Given the description of an element on the screen output the (x, y) to click on. 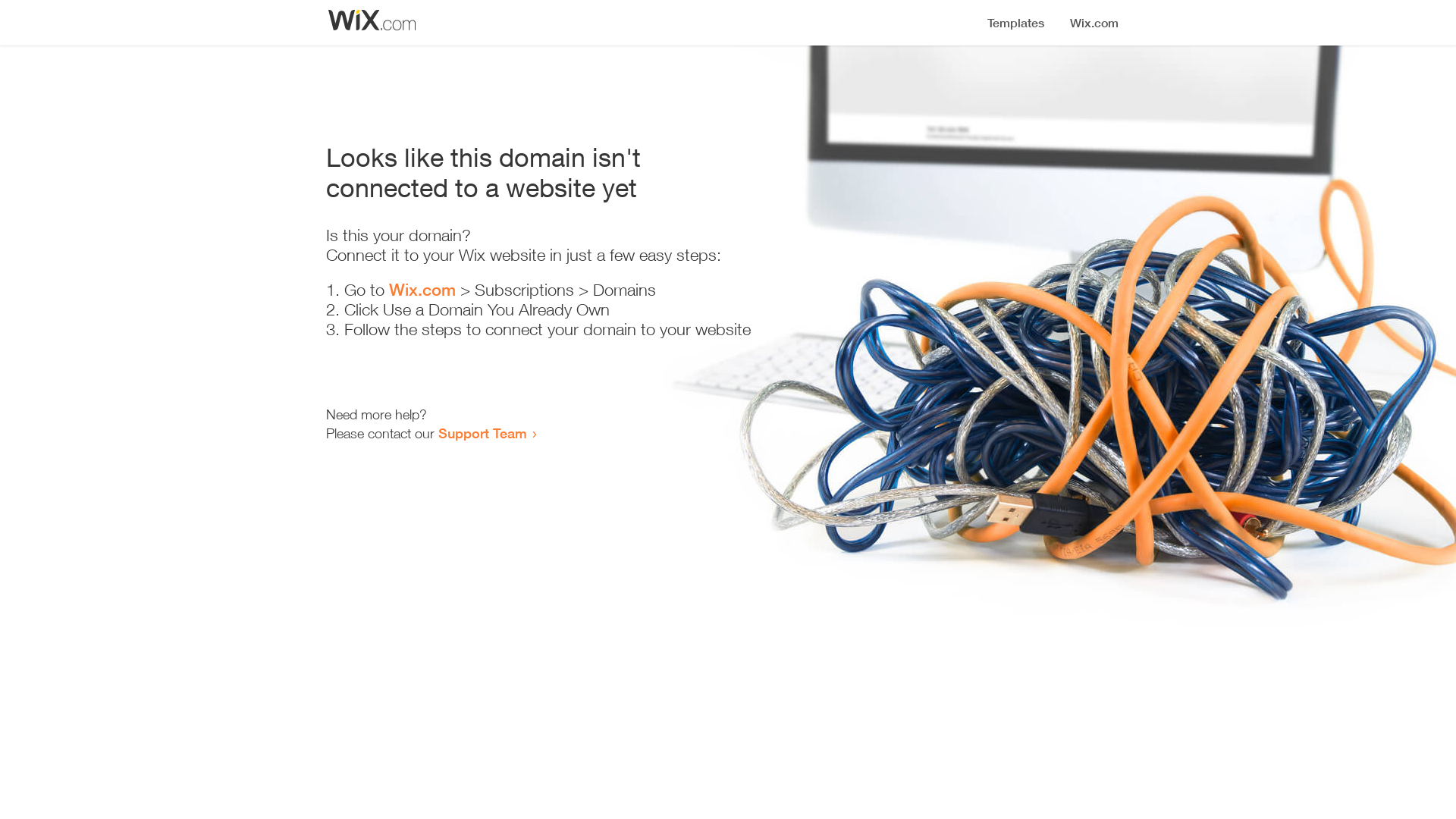
Wix.com Element type: text (422, 289)
Support Team Element type: text (482, 432)
